Given the description of an element on the screen output the (x, y) to click on. 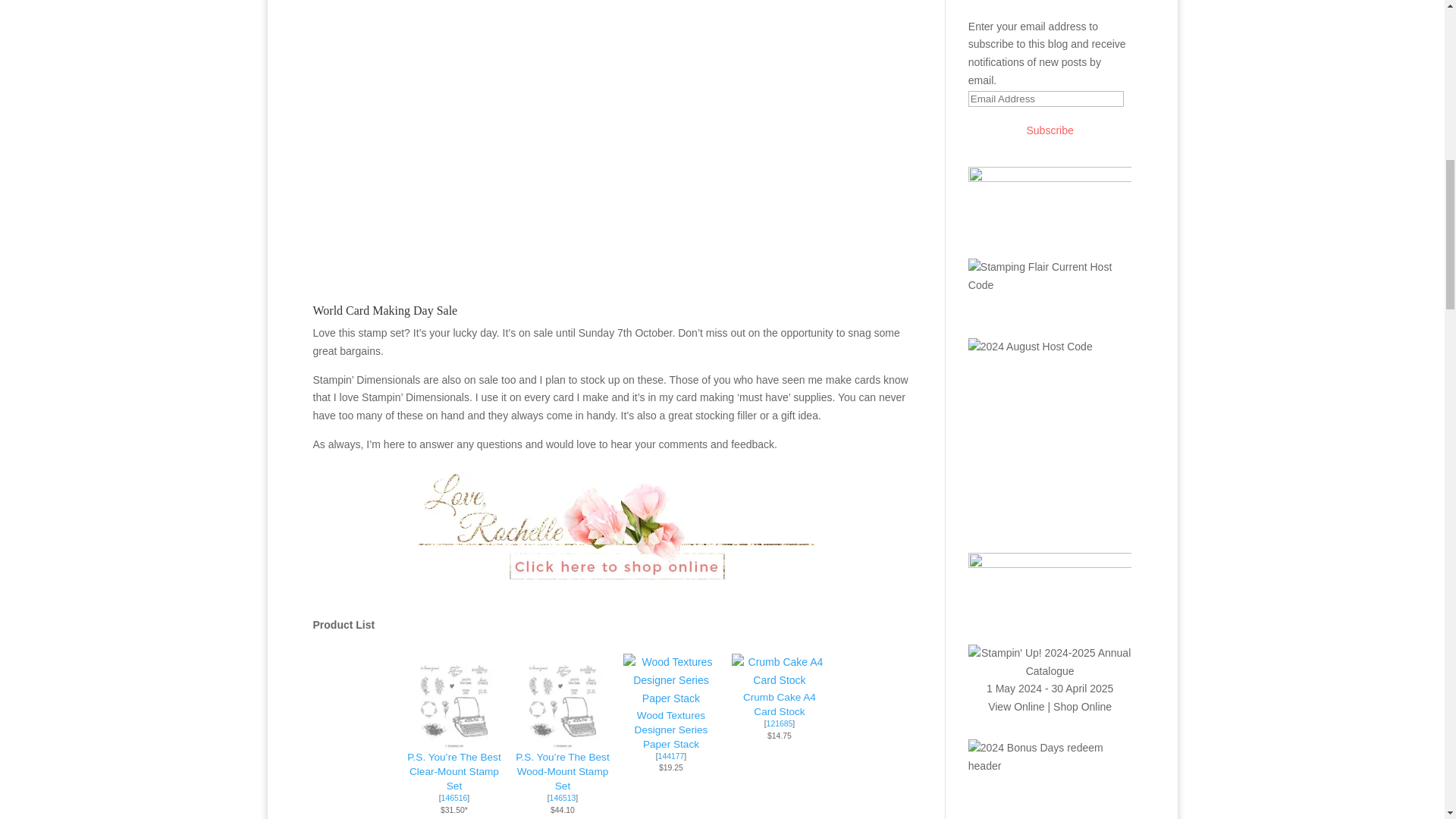
Wood Textures Designer Series Paper Stack (671, 680)
144177 (671, 756)
P.S. You're The Best Clear-Mount Stamp Set (454, 739)
146513 (563, 797)
P.S. You're The Best Wood-Mount Stamp Set (561, 771)
P.S. You're The Best Clear-Mount Stamp Set (454, 701)
Wood Textures Designer Series Paper Stack (670, 730)
Crumb Cake A4 Card Stock (778, 704)
Crumb Cake A4 Card Stock (780, 680)
146516 (454, 797)
